Given the description of an element on the screen output the (x, y) to click on. 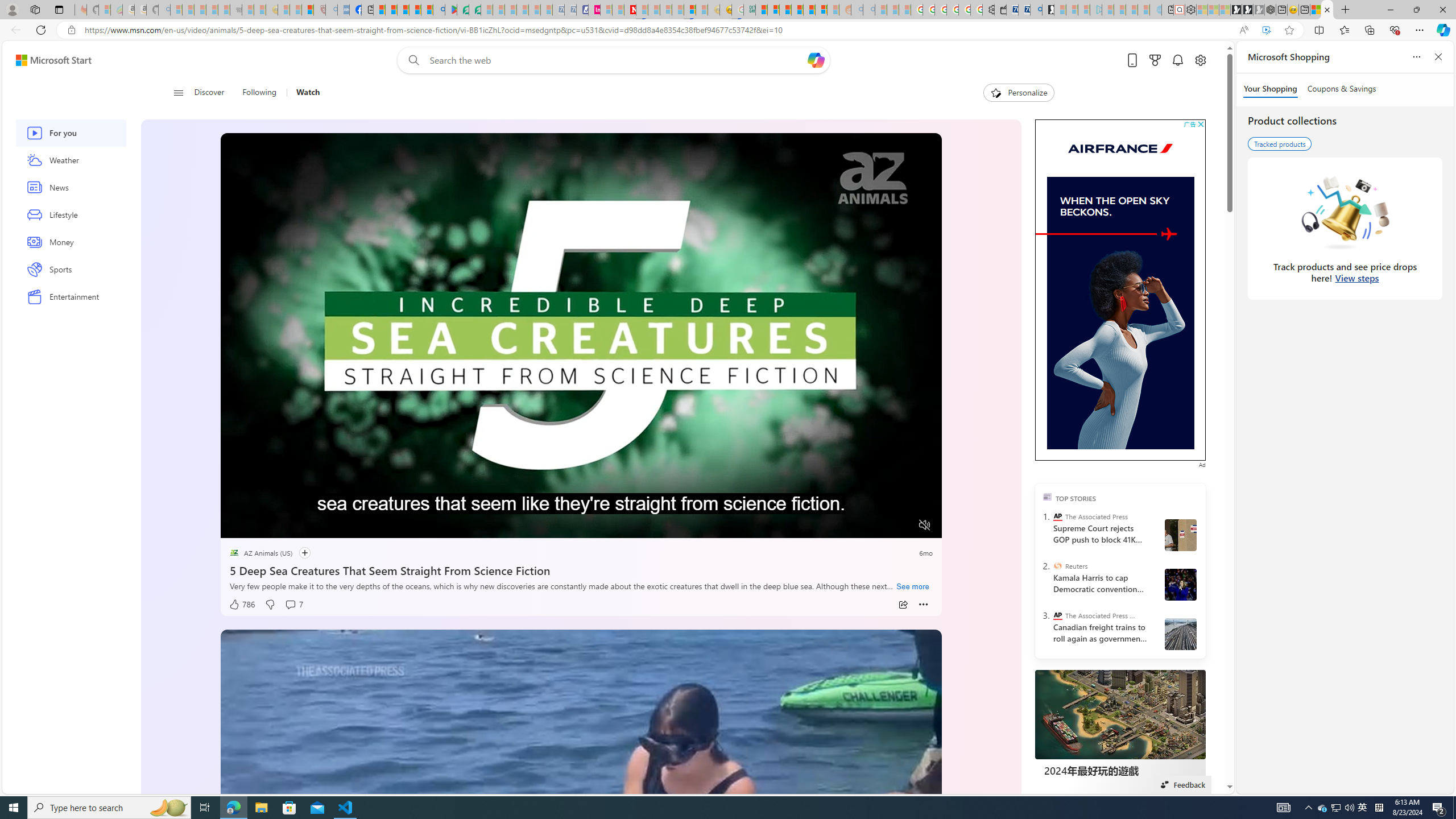
More (923, 604)
Robert H. Shmerling, MD - Harvard Health - Sleeping (319, 9)
Nordace - Nordace Siena Is Not An Ordinary Backpack (1270, 9)
Watch (303, 92)
